Given the description of an element on the screen output the (x, y) to click on. 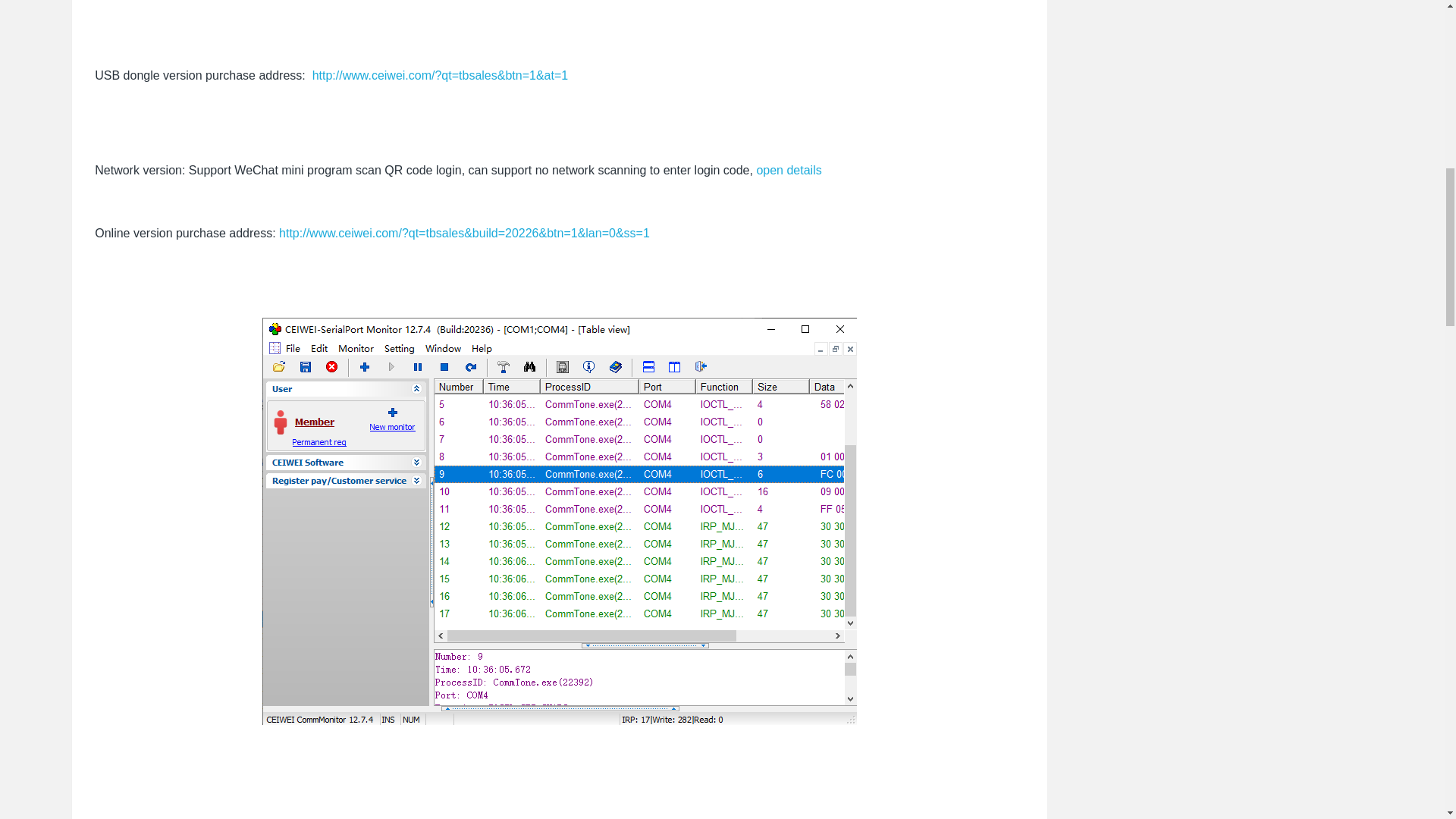
open details (788, 169)
